Given the description of an element on the screen output the (x, y) to click on. 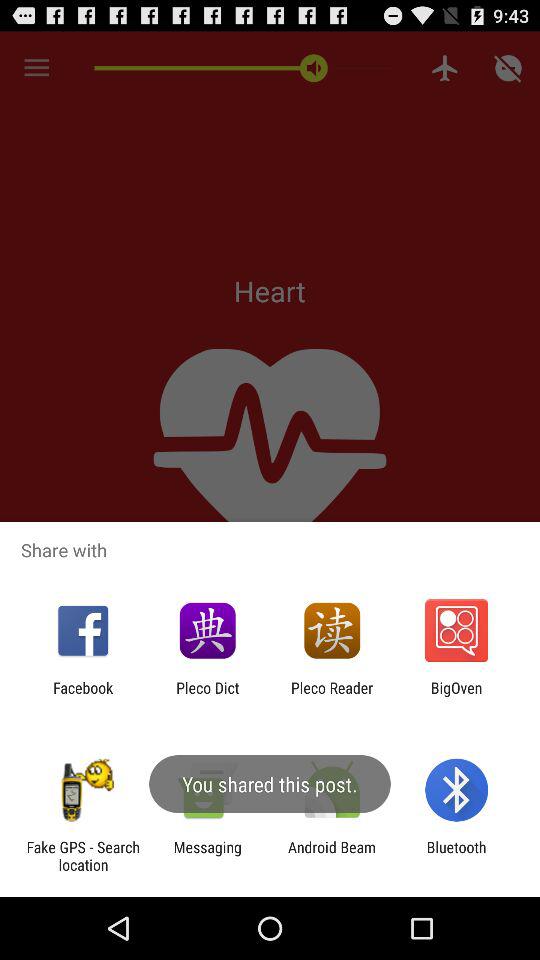
flip until fake gps search item (83, 856)
